Given the description of an element on the screen output the (x, y) to click on. 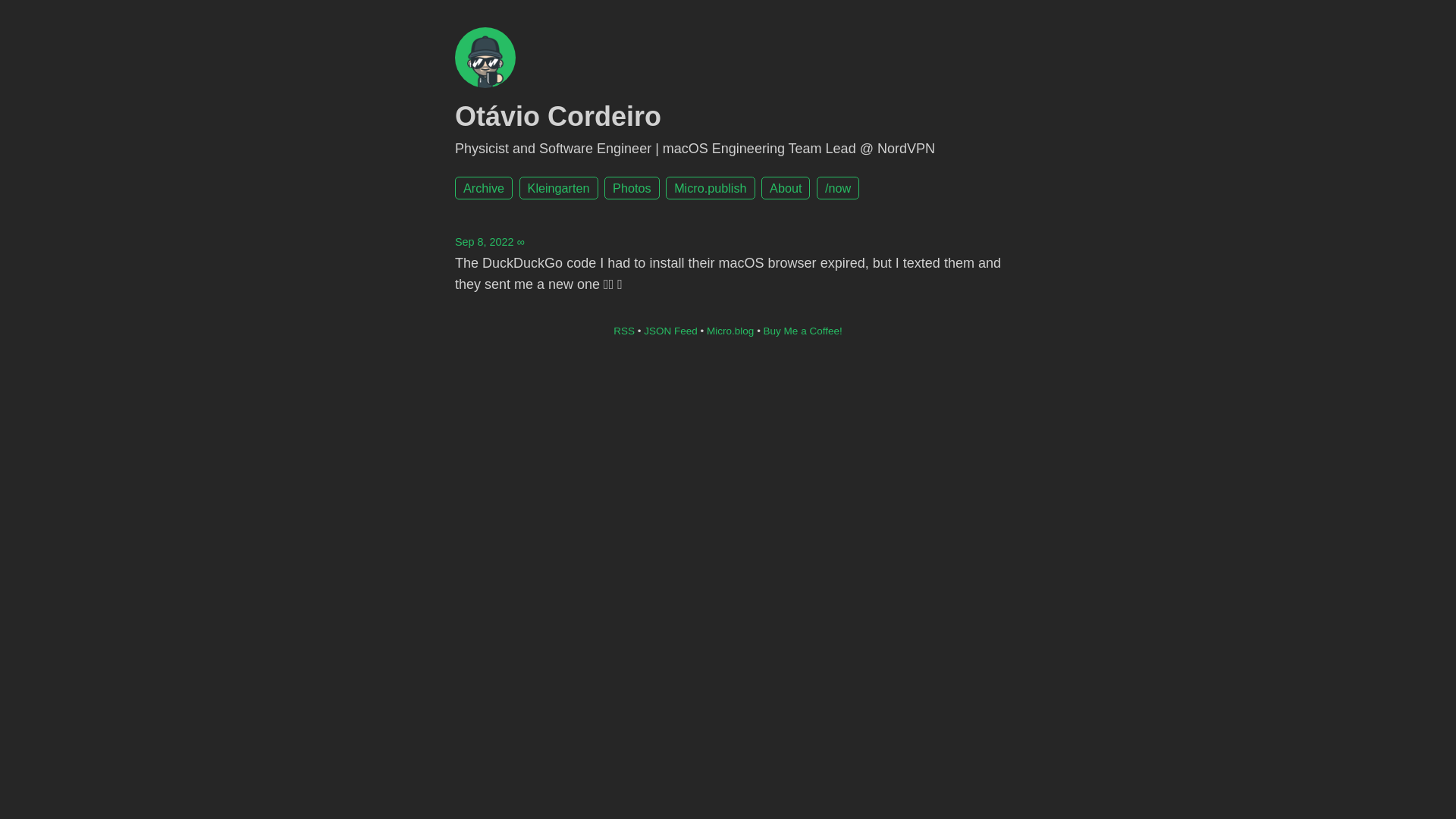
Micro.blog Element type: text (729, 330)
JSON Feed Element type: text (670, 330)
Micro.publish Element type: text (709, 187)
RSS Element type: text (623, 330)
Photos Element type: text (631, 187)
/now Element type: text (837, 187)
Archive Element type: text (483, 187)
About Element type: text (785, 187)
Kleingarten Element type: text (558, 187)
Buy Me a Coffee! Element type: text (802, 330)
